Given the description of an element on the screen output the (x, y) to click on. 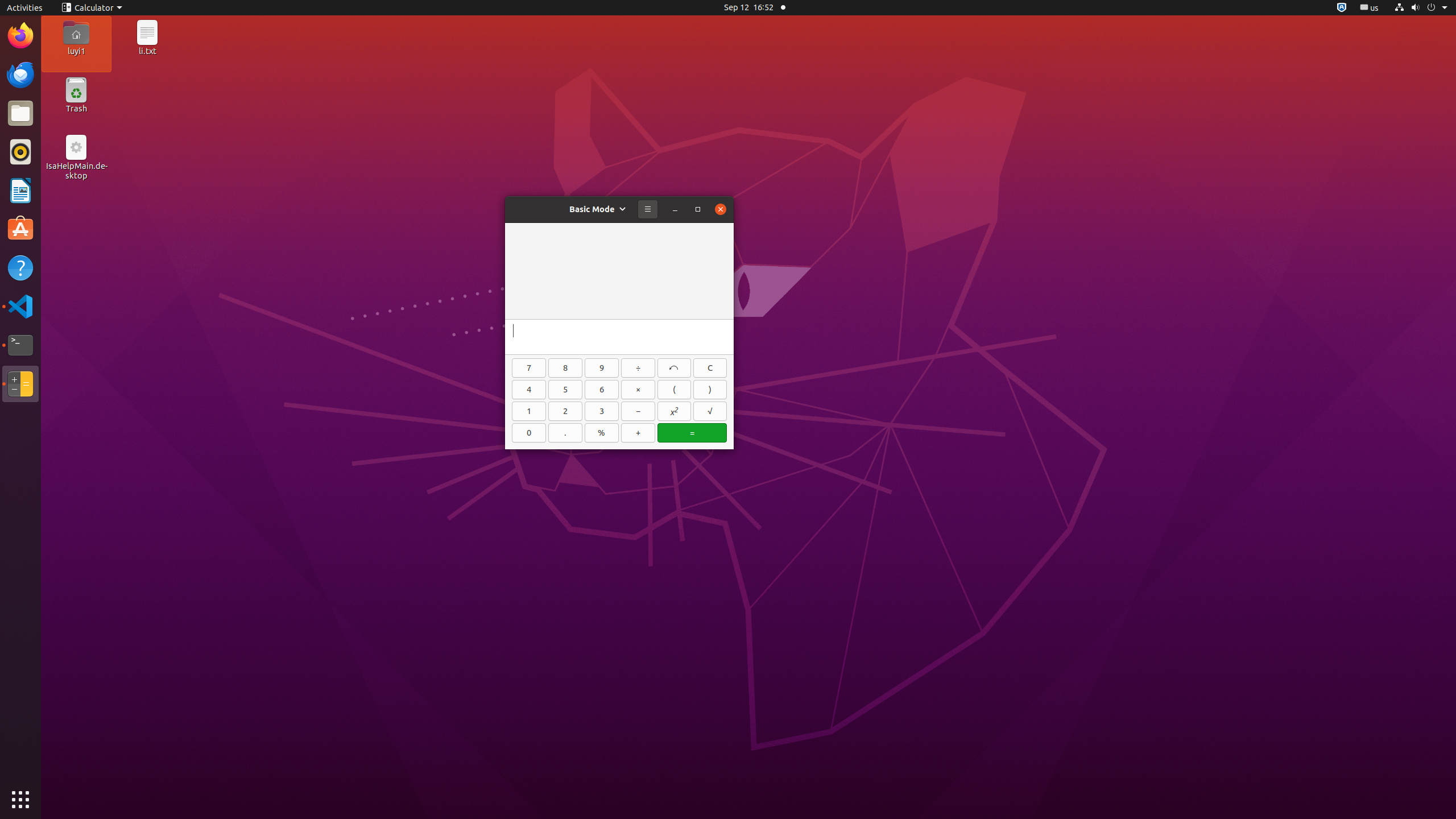
Mode selection Element type: toggle-button (597, 209)
Firefox Web Browser Element type: push-button (20, 35)
1 Element type: push-button (528, 410)
